Given the description of an element on the screen output the (x, y) to click on. 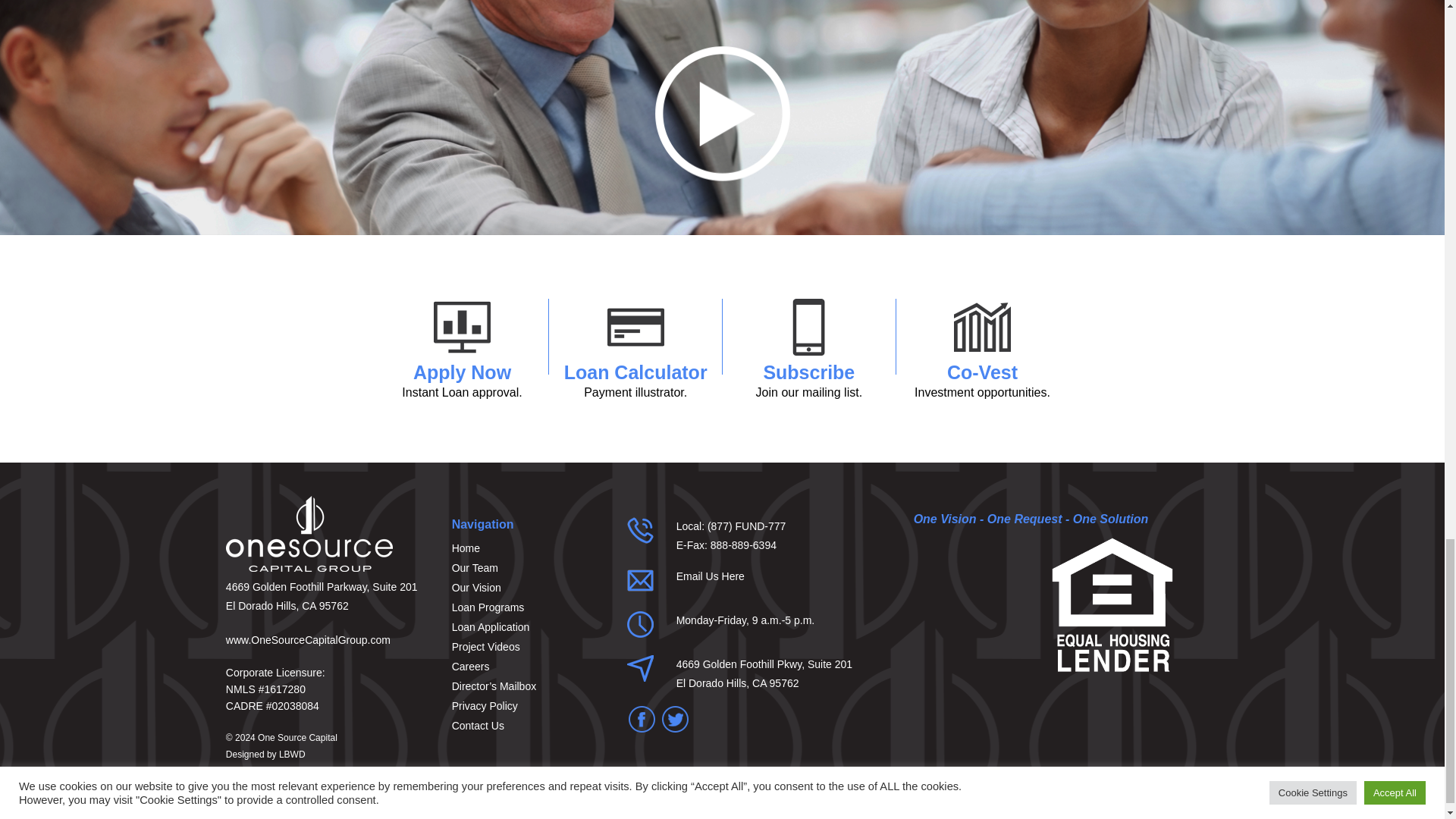
One Source Capital (297, 737)
Privacy Policy (527, 705)
Loan Application (527, 627)
Careers (527, 666)
Project Videos (527, 646)
Home (808, 374)
Contact Us (527, 547)
Our Vision (527, 725)
www.OneSourceCapitalGroup.com (527, 587)
Email Us Here (307, 639)
LBWD (710, 576)
888-889-6394 (292, 754)
Our Team (743, 544)
One Source Capital (527, 567)
